Given the description of an element on the screen output the (x, y) to click on. 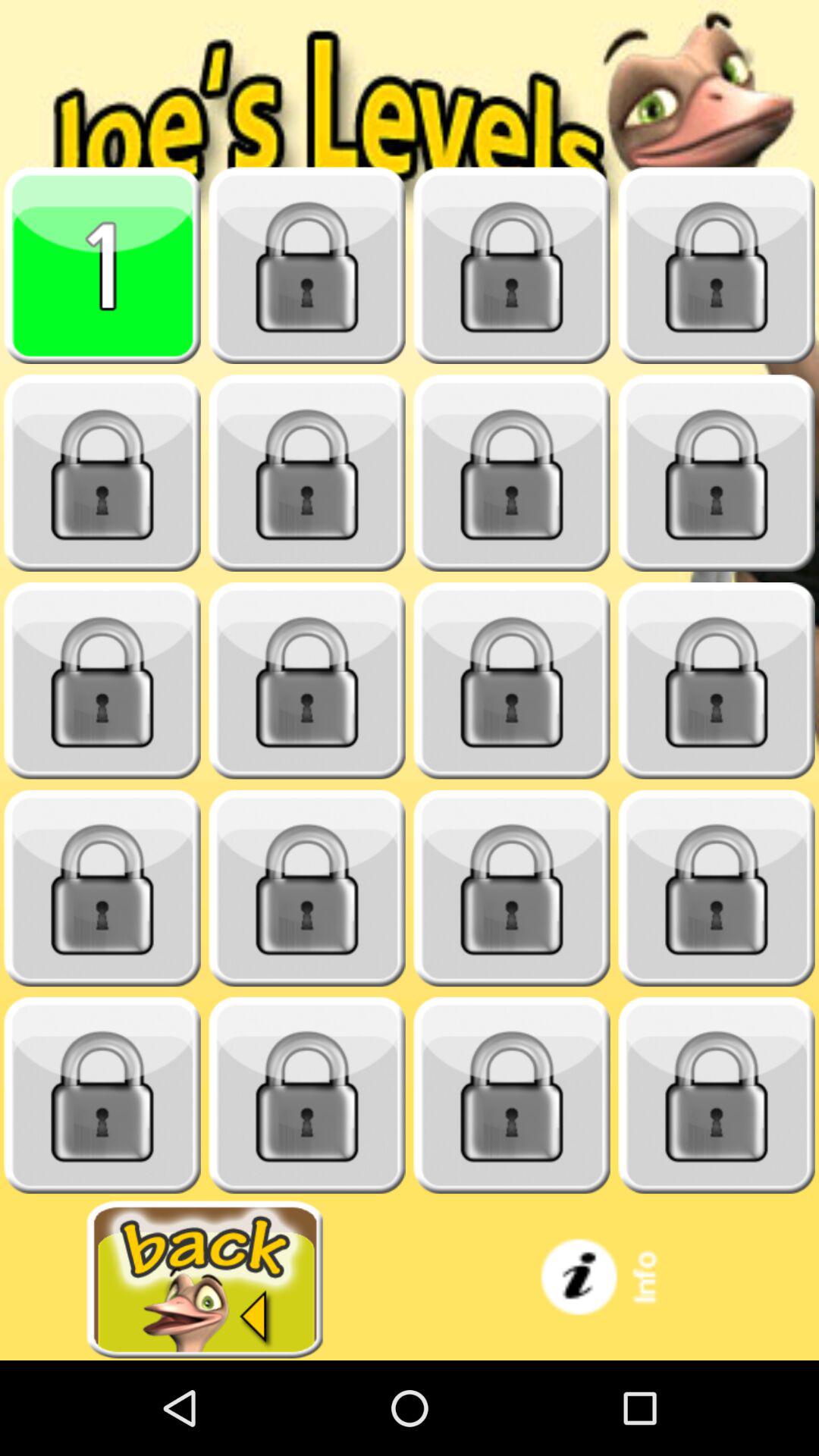
locked level (306, 680)
